Given the description of an element on the screen output the (x, y) to click on. 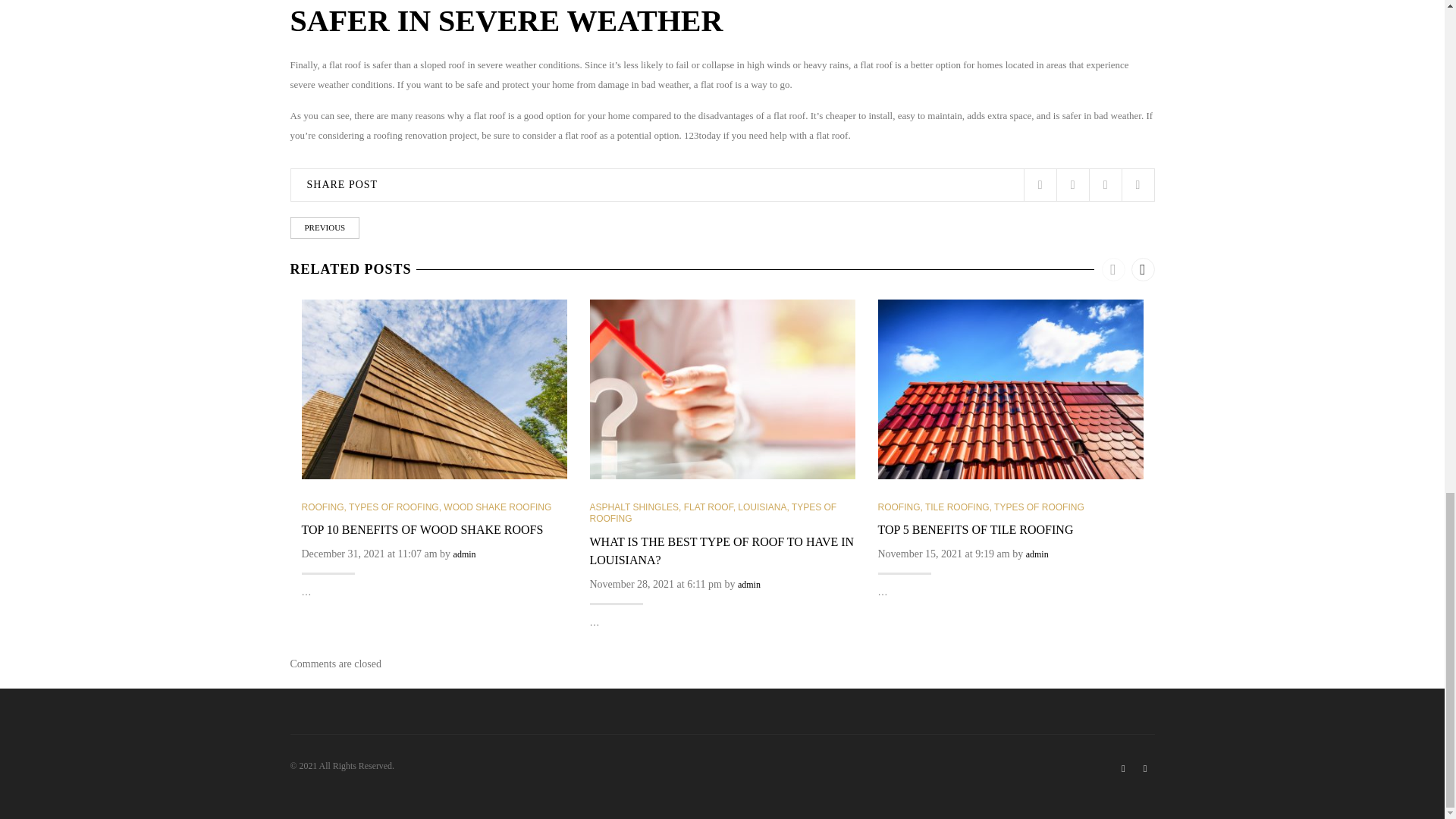
Facebook (1073, 184)
Posts by admin (1037, 553)
Twitter (1040, 184)
Pinterest (1105, 184)
Posts by admin (464, 553)
Mail to friend (1137, 184)
Posts by admin (749, 584)
